Given the description of an element on the screen output the (x, y) to click on. 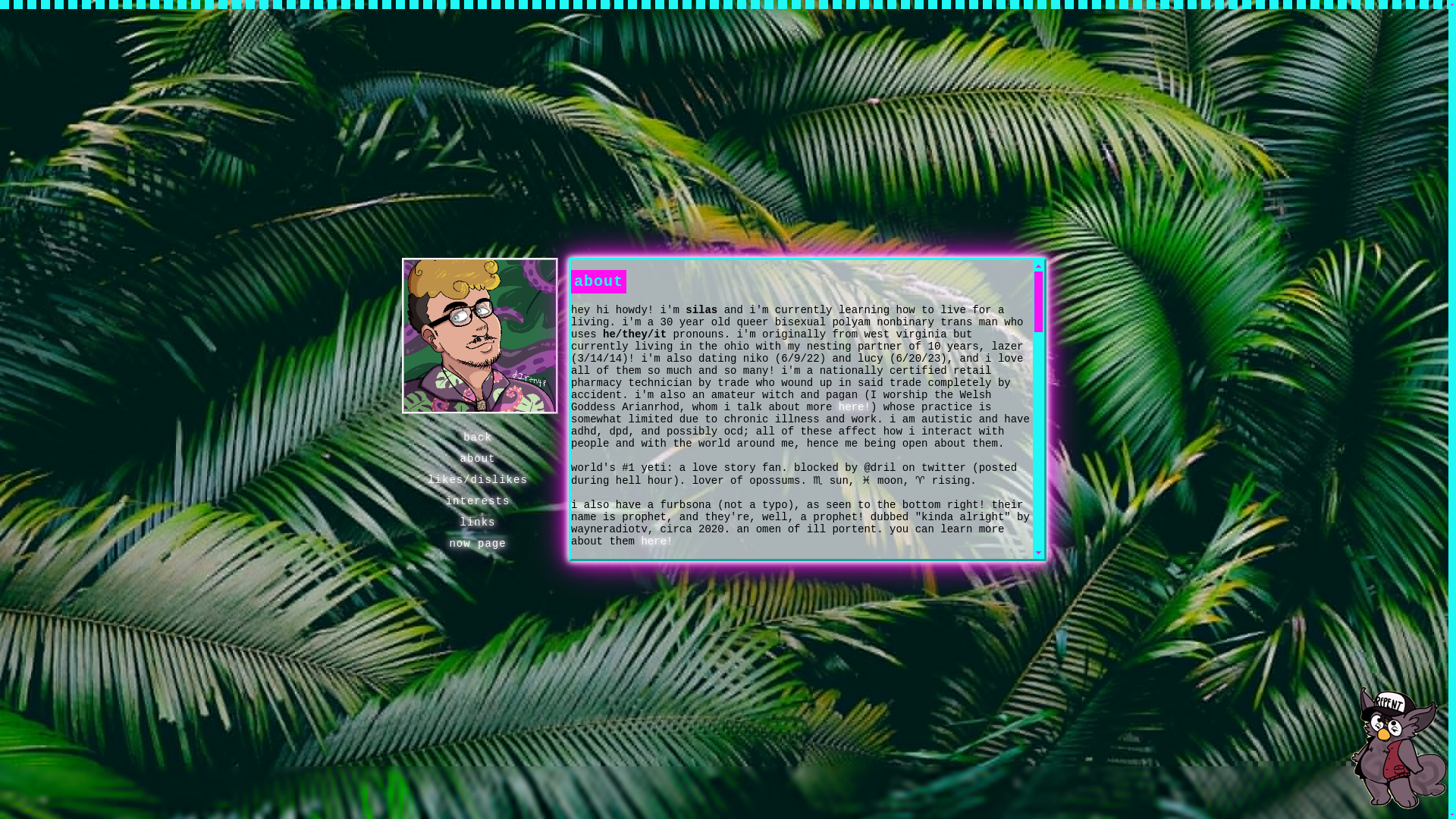
links (476, 522)
about (476, 458)
here! (656, 541)
interests (478, 501)
now page (477, 543)
here! (854, 407)
back (477, 437)
